Given the description of an element on the screen output the (x, y) to click on. 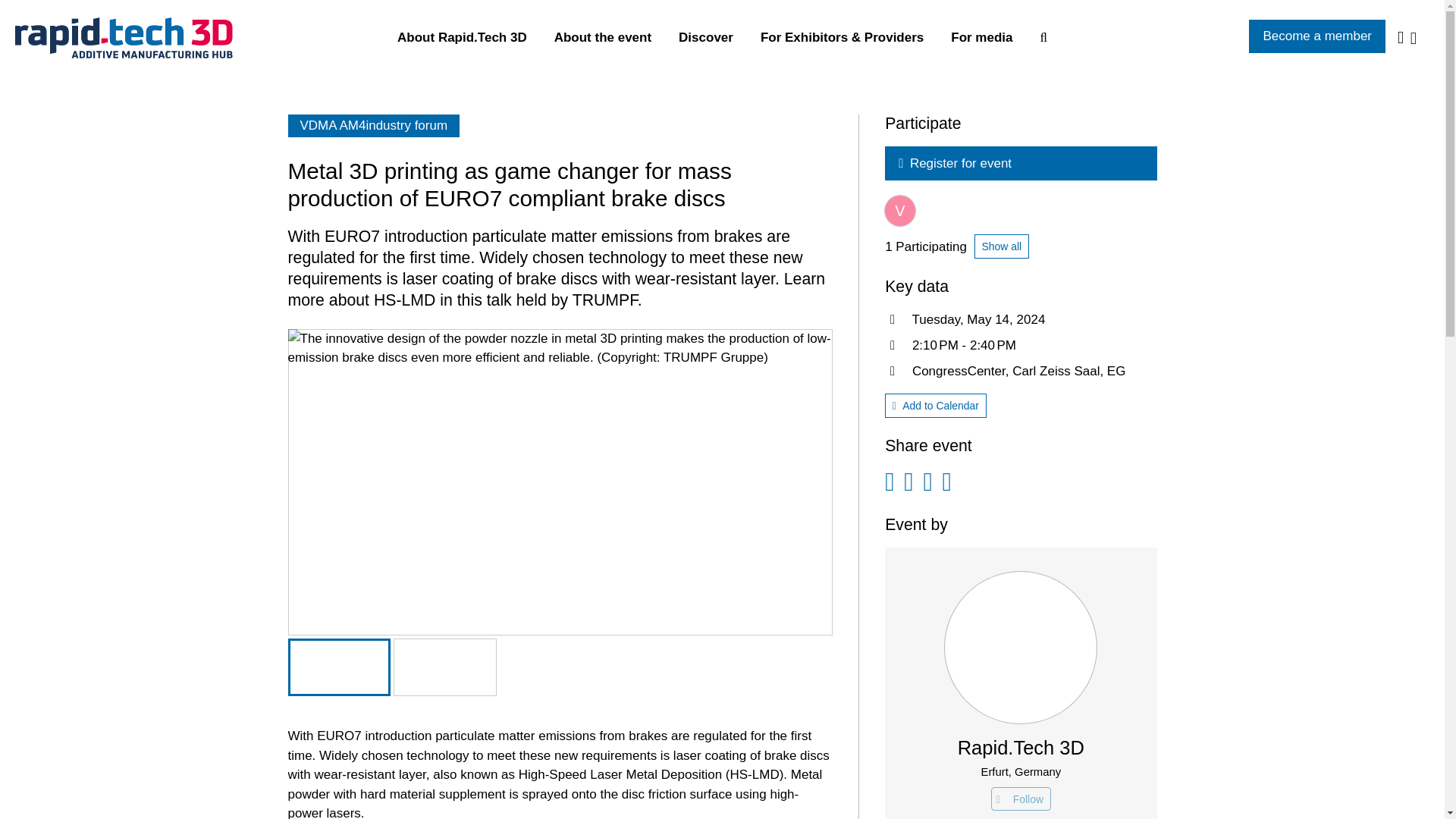
About the event (602, 37)
Discover (705, 37)
V (900, 210)
For media (981, 37)
Become a member (1317, 36)
About Rapid.Tech 3D (462, 37)
